Given the description of an element on the screen output the (x, y) to click on. 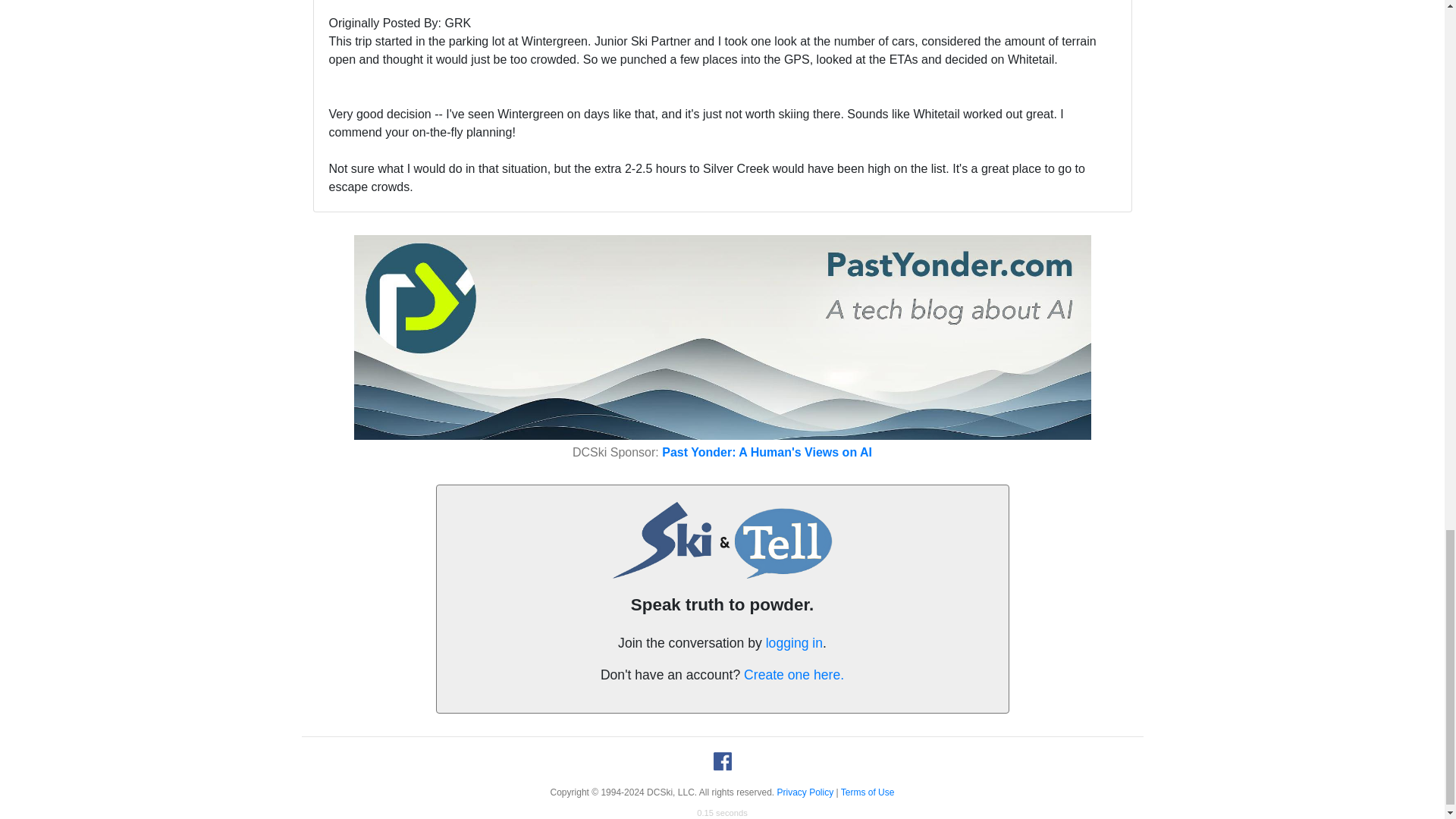
Past Yonder: A Human's Views on AI (767, 451)
Create one here. (794, 674)
logging in (793, 642)
